Given the description of an element on the screen output the (x, y) to click on. 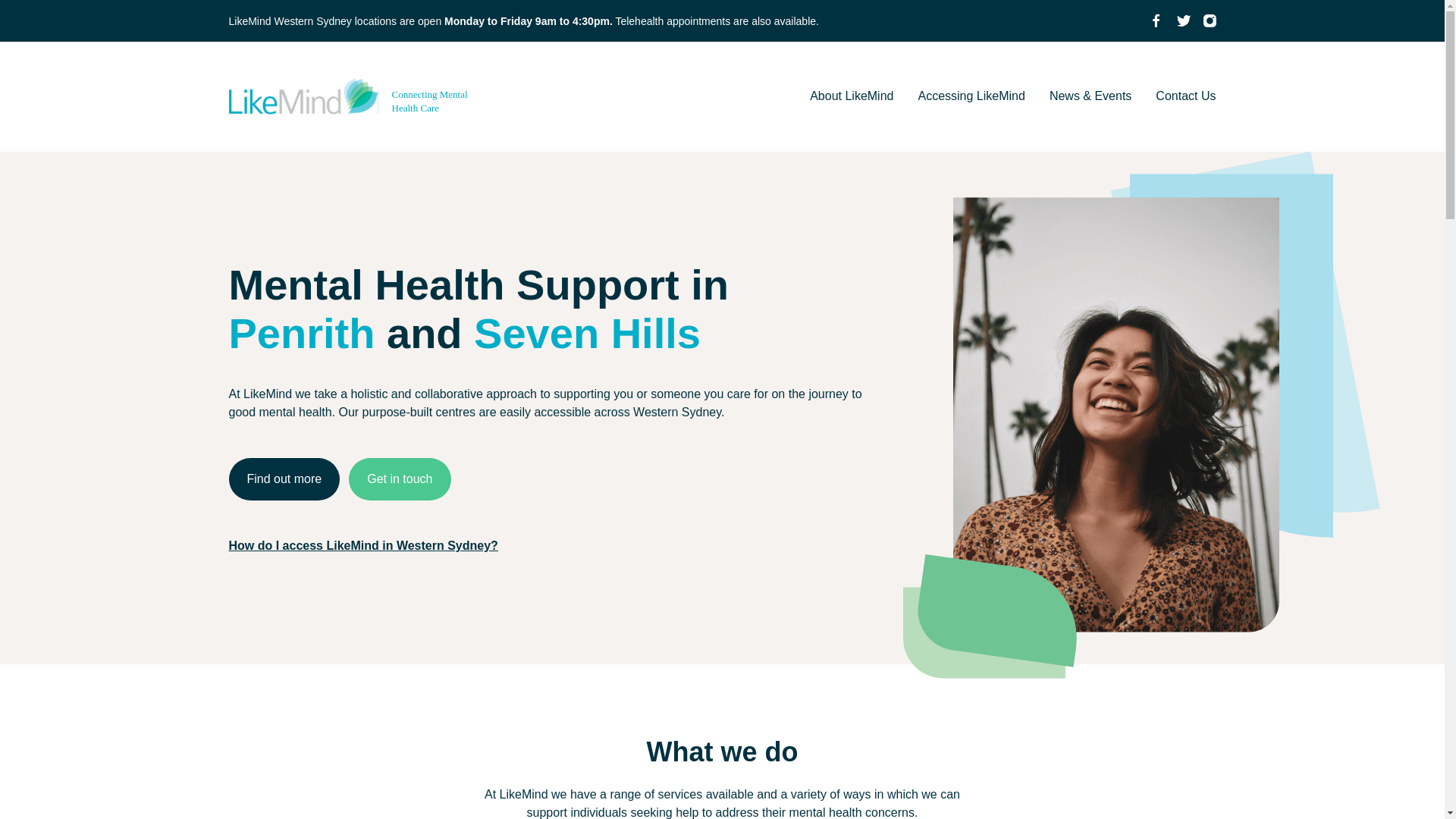
Find out more (284, 478)
Contact Us (1185, 95)
Get in touch (399, 478)
About LikeMind (851, 95)
Accessing LikeMind (971, 95)
How do I access LikeMind in Western Sydney? (362, 545)
